Given the description of an element on the screen output the (x, y) to click on. 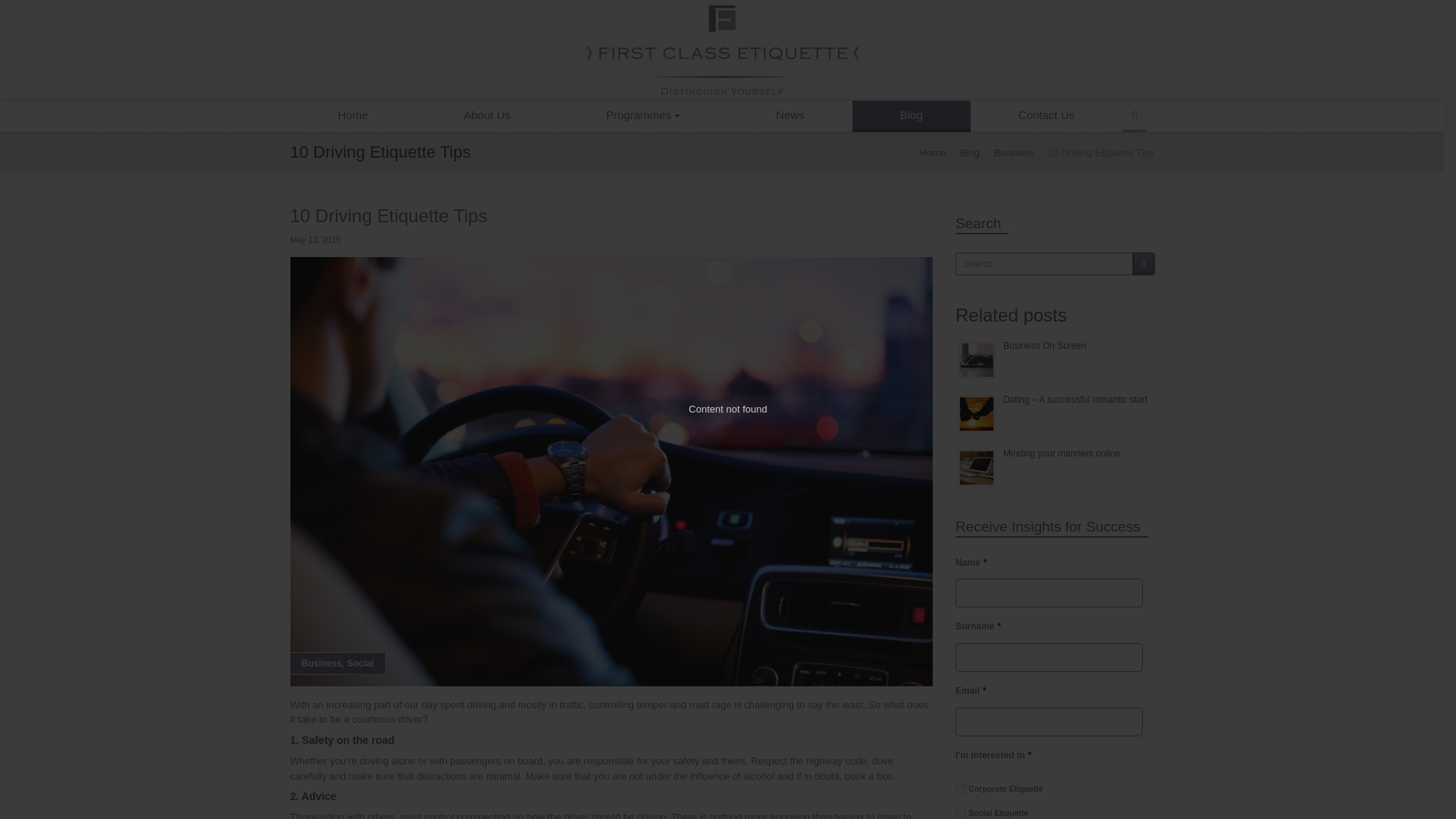
News (789, 115)
Home (351, 115)
Social Etiquette (961, 812)
Blog (911, 115)
Corporate Etiquette (961, 788)
About Us (487, 115)
Programmes (642, 115)
Programmes (642, 115)
Home (351, 115)
Home (933, 152)
Business (1012, 152)
About Us (487, 115)
Contact Us (1046, 115)
First Class Etiquette (722, 49)
First Class Etiquette (722, 49)
